Given the description of an element on the screen output the (x, y) to click on. 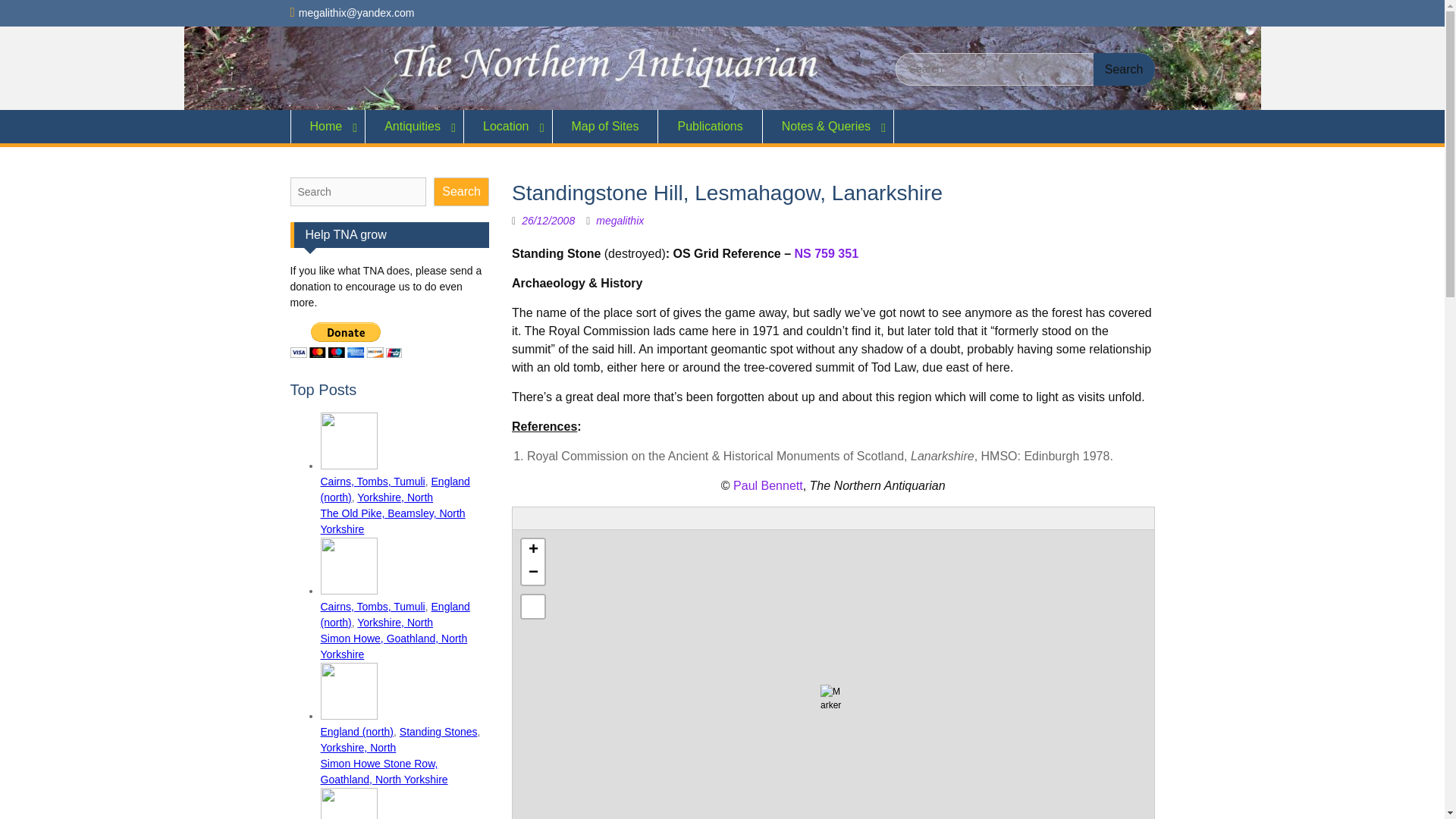
Zoom out (532, 572)
Location (508, 126)
Antiquities (414, 126)
Search (1123, 69)
Zoom in (532, 549)
Search (1123, 69)
Search for: (1024, 69)
Home (327, 126)
View fullscreen (532, 606)
Search (1123, 69)
